Given the description of an element on the screen output the (x, y) to click on. 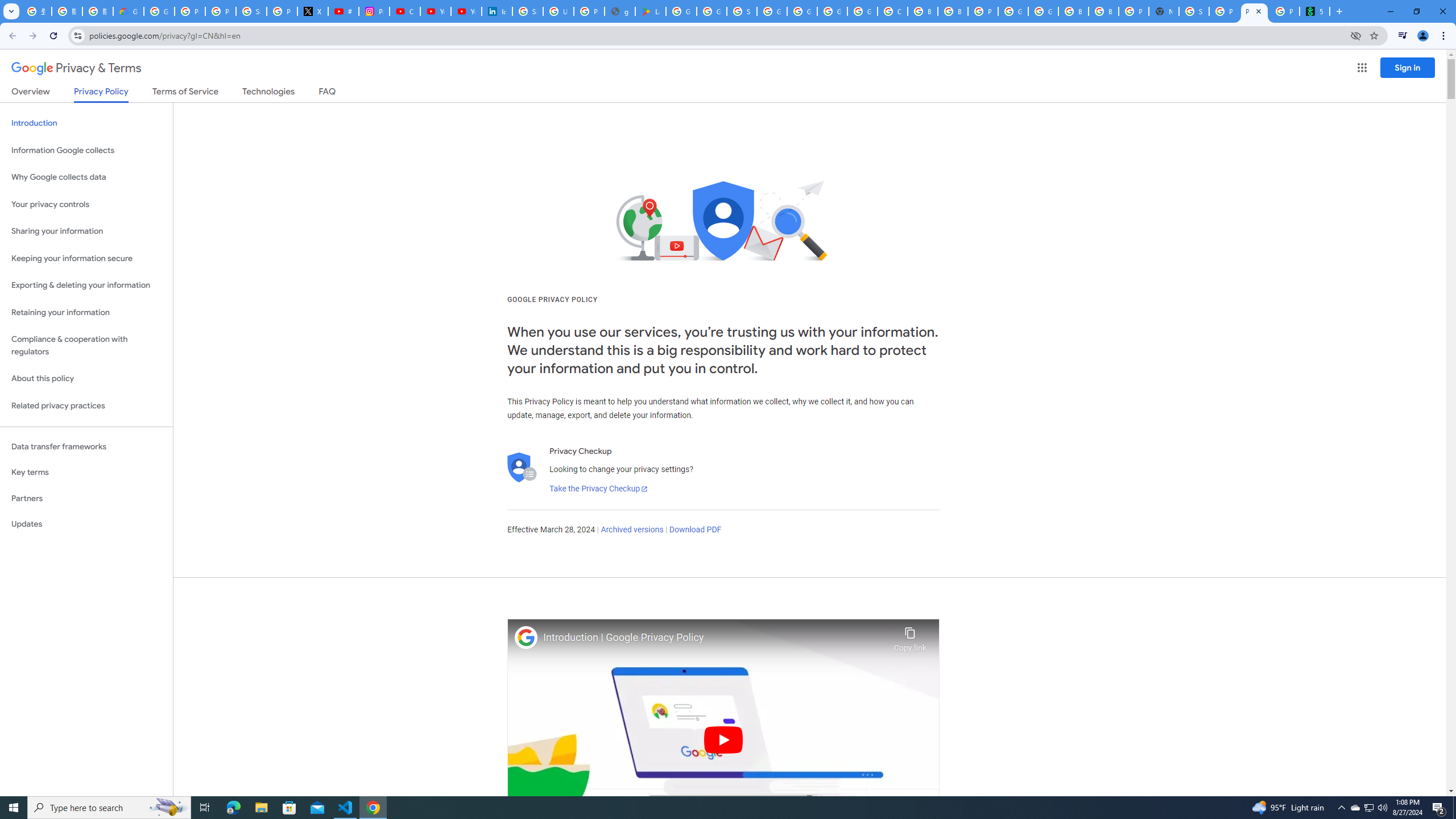
Keeping your information secure (86, 258)
Data transfer frameworks (86, 446)
FAQ (327, 93)
Sign in - Google Accounts (251, 11)
Introduction (86, 122)
Identity verification via Persona | LinkedIn Help (496, 11)
Exporting & deleting your information (86, 284)
Browse Chrome as a guest - Computer - Google Chrome Help (952, 11)
